Given the description of an element on the screen output the (x, y) to click on. 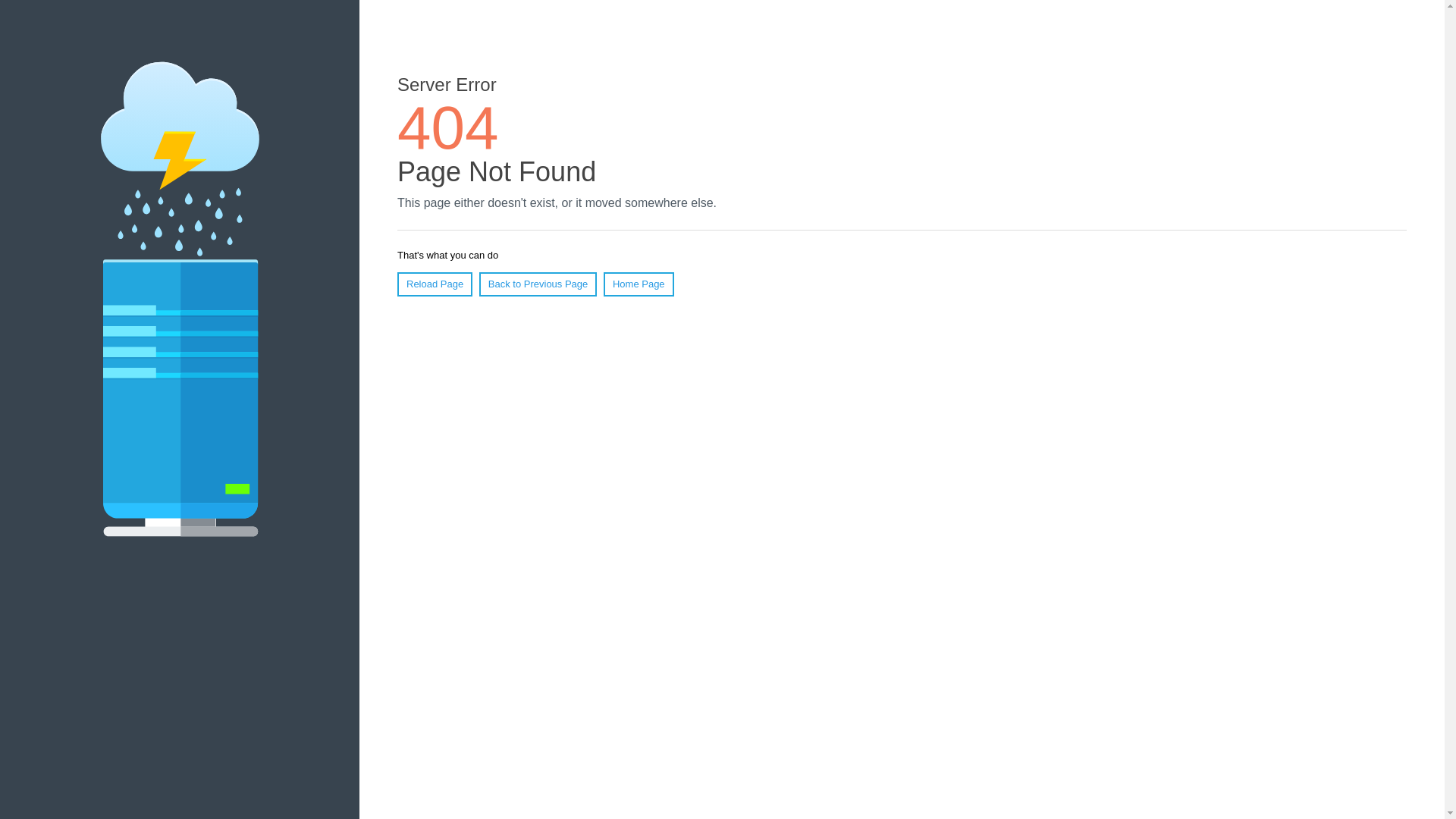
Reload Page Element type: text (434, 284)
Back to Previous Page Element type: text (538, 284)
Home Page Element type: text (638, 284)
